Given the description of an element on the screen output the (x, y) to click on. 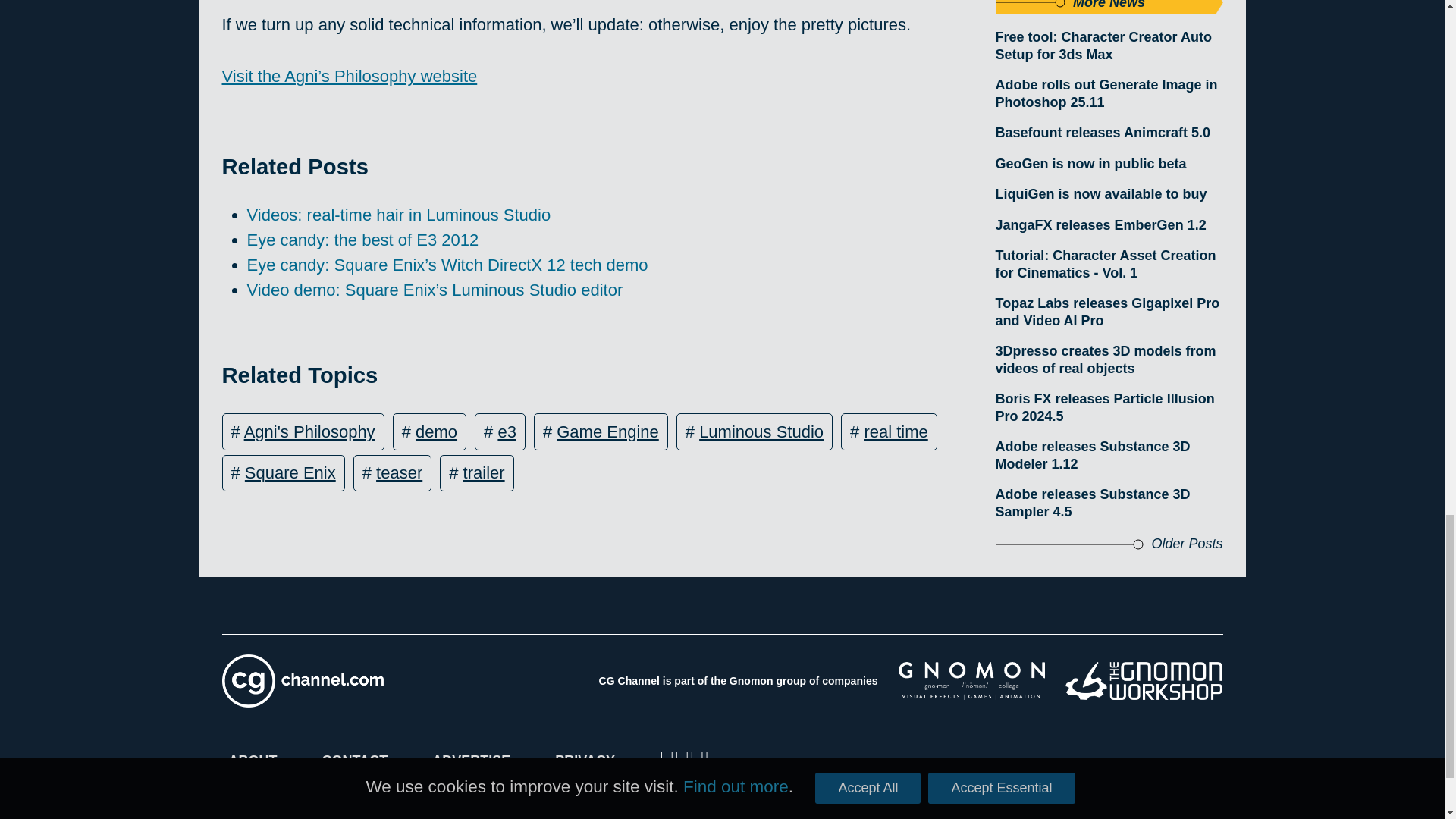
Videos: real-time hair in Luminous Studio (399, 214)
Eye candy: the best of E3 2012 (363, 239)
teaser (398, 472)
trailer (484, 472)
e3 (506, 431)
Eye candy: the best of E3 2012 (363, 239)
Gnomon Workshop (1143, 680)
Luminous Studio (761, 431)
Game Engine (607, 431)
real time (895, 431)
demo (435, 431)
Gnomon School (970, 680)
Square Enix (290, 472)
Agni's Philosophy (309, 431)
Videos: real-time hair in Luminous Studio (399, 214)
